Given the description of an element on the screen output the (x, y) to click on. 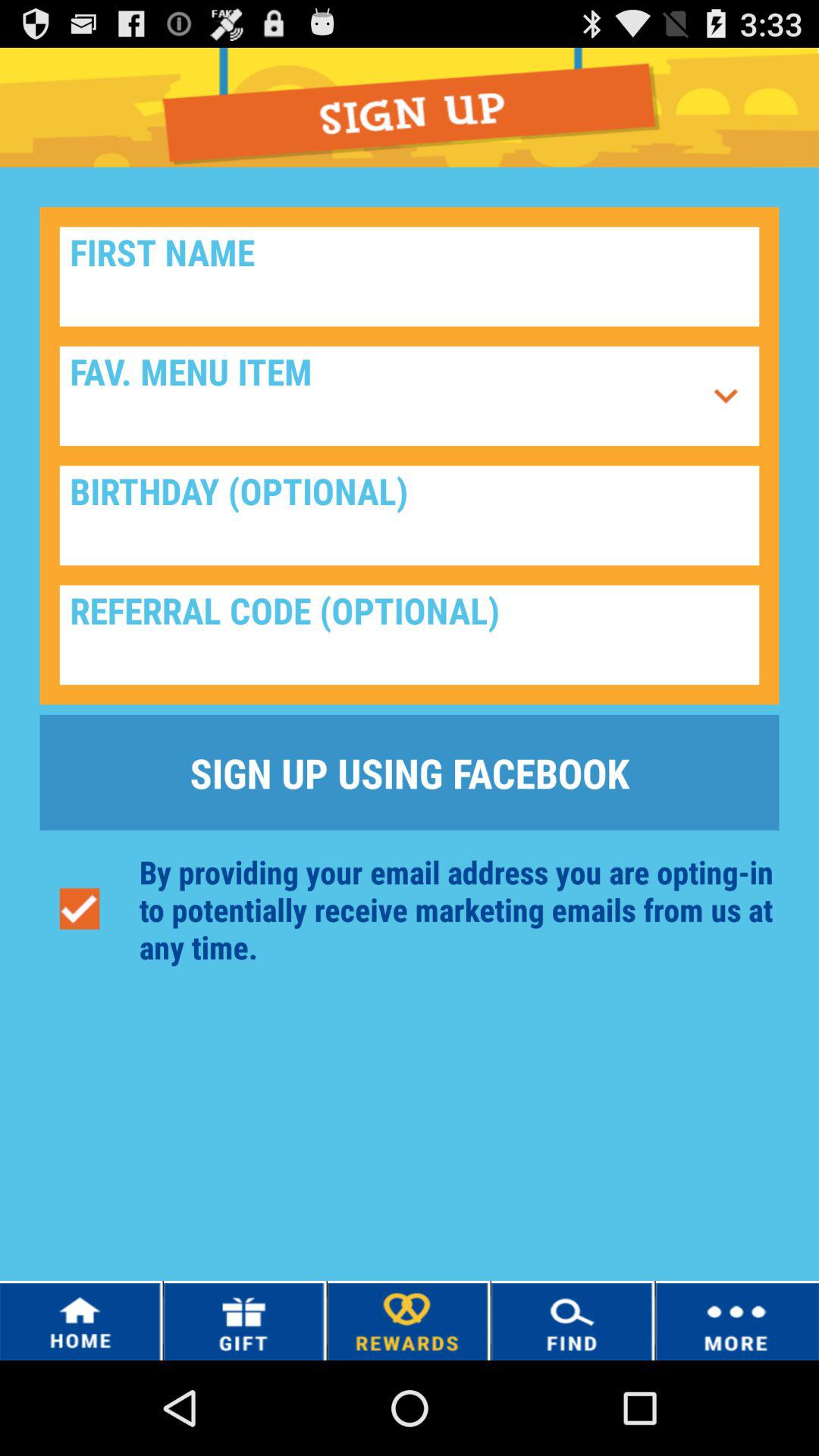
tap the item above by providing your icon (409, 772)
